Given the description of an element on the screen output the (x, y) to click on. 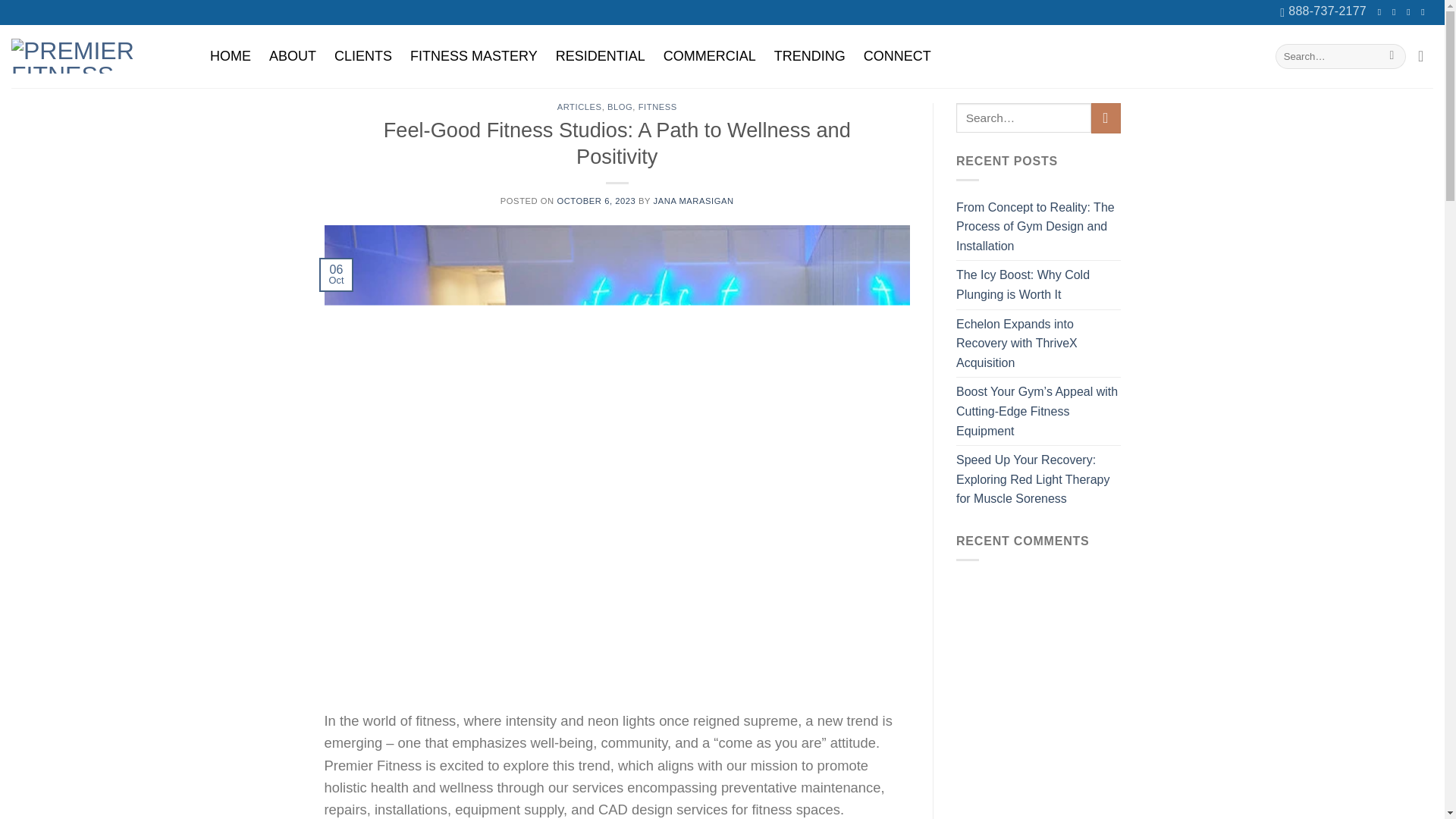
ABOUT (292, 55)
FITNESS MASTERY (474, 55)
888-737-2177 (1323, 12)
888-737-2177 (1323, 12)
Premier Fitness - Premier Fitness (94, 55)
HOME (230, 55)
CLIENTS (362, 55)
